Given the description of an element on the screen output the (x, y) to click on. 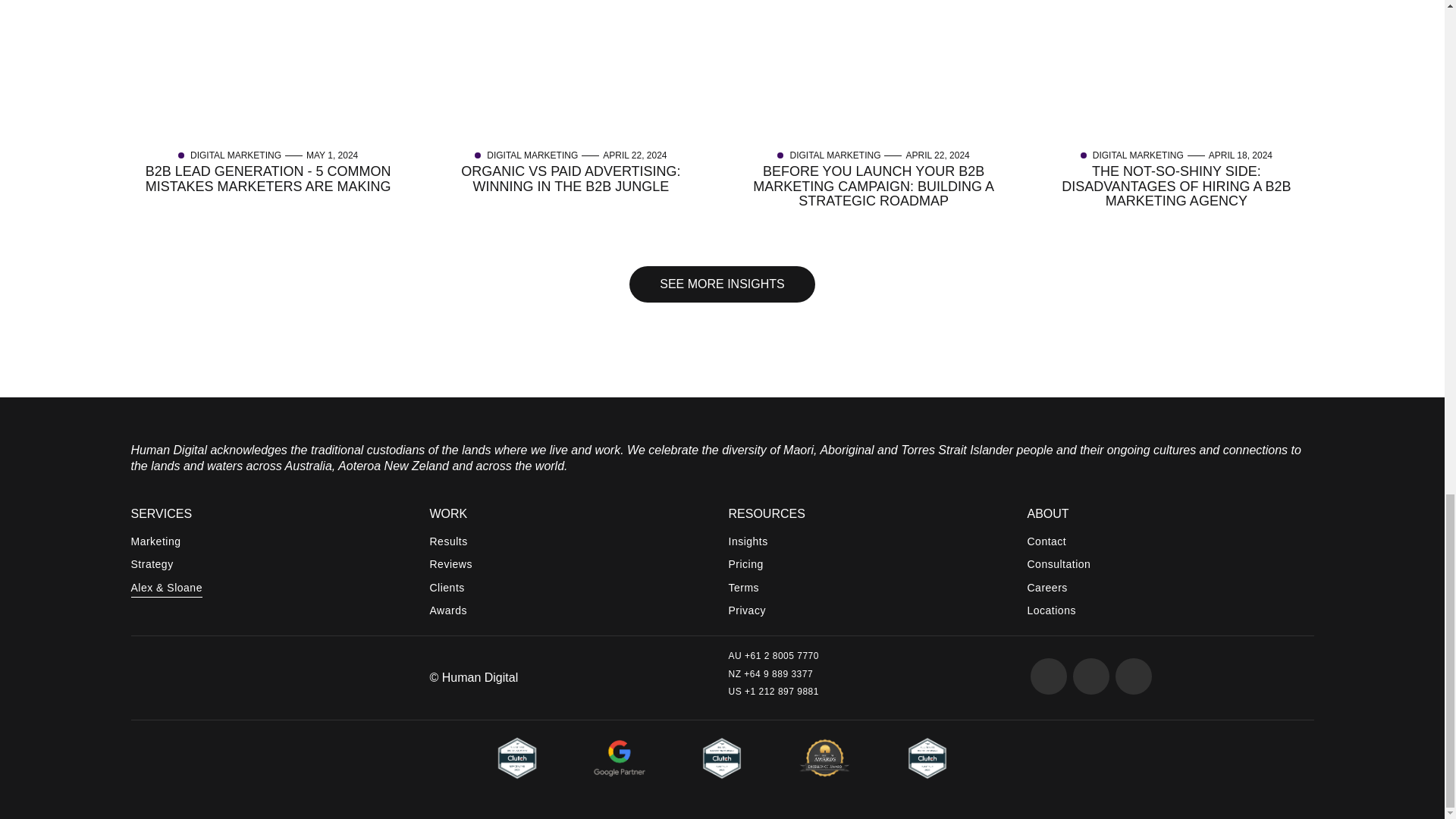
SEE MORE INSIGHTS (720, 284)
Awards (450, 612)
Clients (450, 589)
Pricing (747, 566)
Insights (747, 543)
Results (450, 543)
Marketing (166, 543)
Terms (747, 589)
Reviews (450, 566)
Strategy (166, 566)
